Given the description of an element on the screen output the (x, y) to click on. 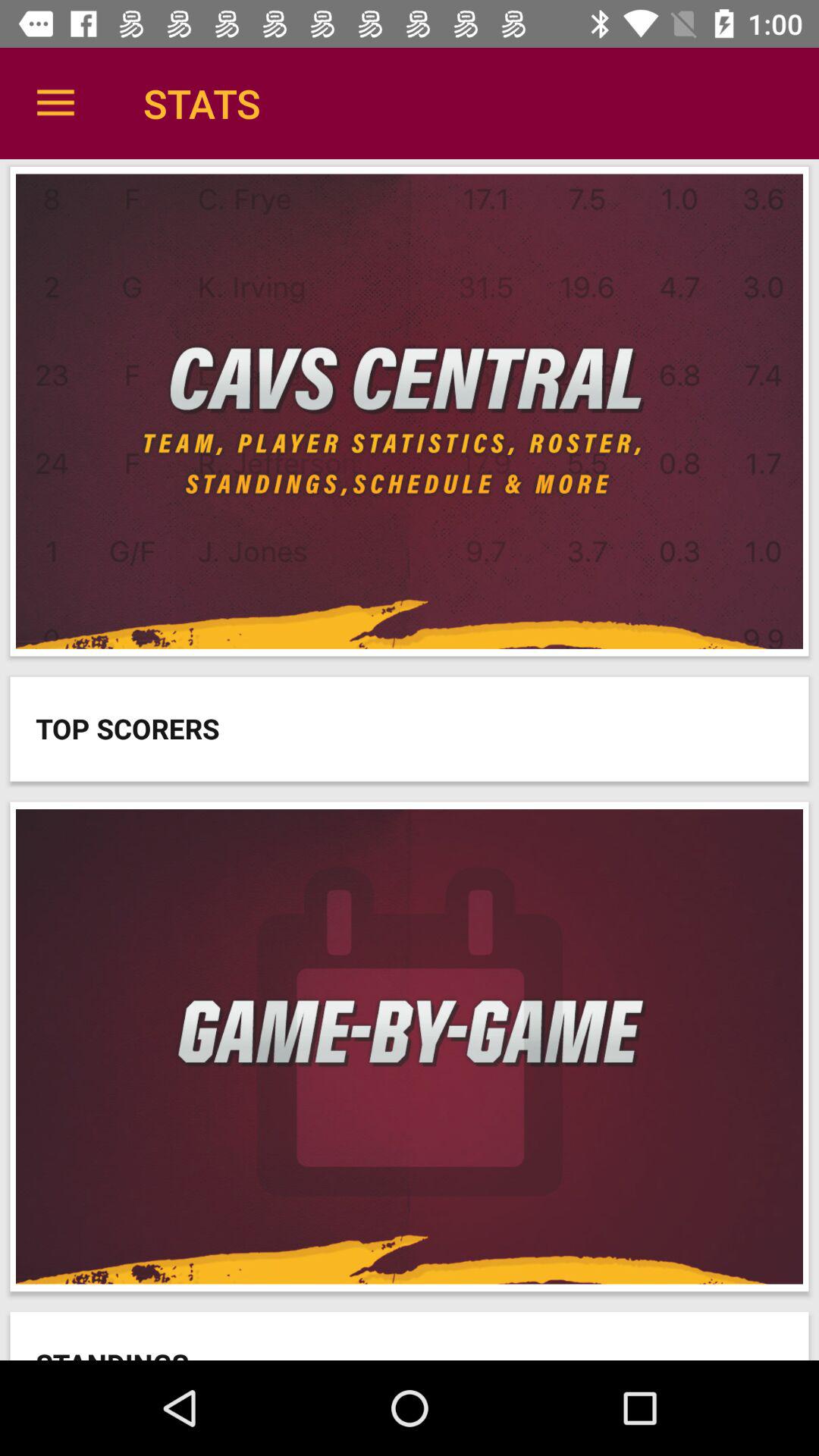
launch icon next to the stats item (55, 103)
